Given the description of an element on the screen output the (x, y) to click on. 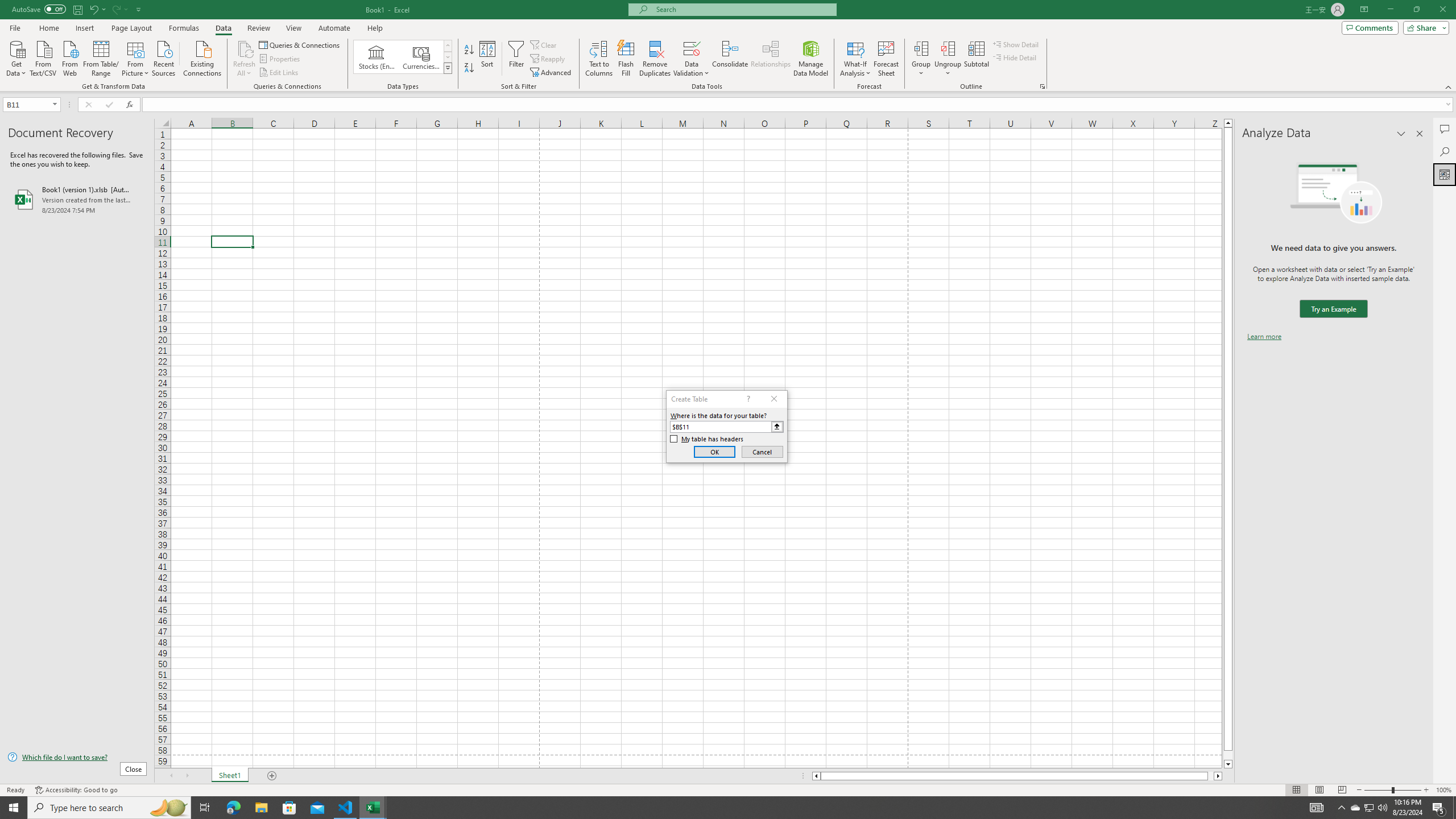
Text to Columns... (598, 58)
Properties (280, 58)
Class: MsoCommandBar (728, 45)
Row up (448, 45)
Data Types (448, 67)
